Given the description of an element on the screen output the (x, y) to click on. 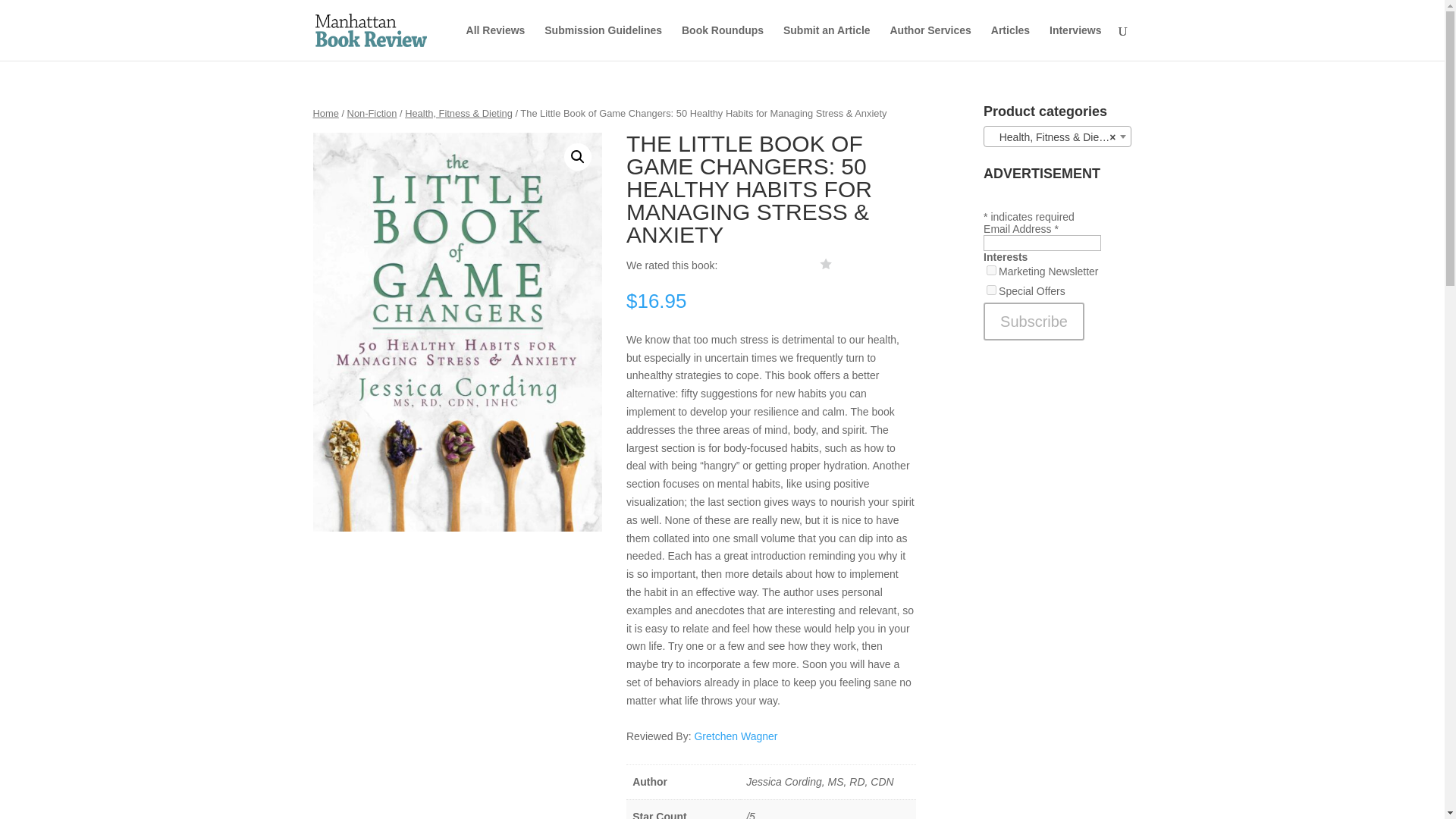
2 (991, 289)
Submission Guidelines (603, 42)
Subscribe (1034, 321)
Author Services (930, 42)
Non-Fiction (372, 112)
Submit an Article (826, 42)
Home (325, 112)
Book Roundups (721, 42)
Gretchen Wagner (735, 736)
All Reviews (495, 42)
1 (991, 270)
Subscribe (1034, 321)
Articles (1010, 42)
Interviews (1074, 42)
